Given the description of an element on the screen output the (x, y) to click on. 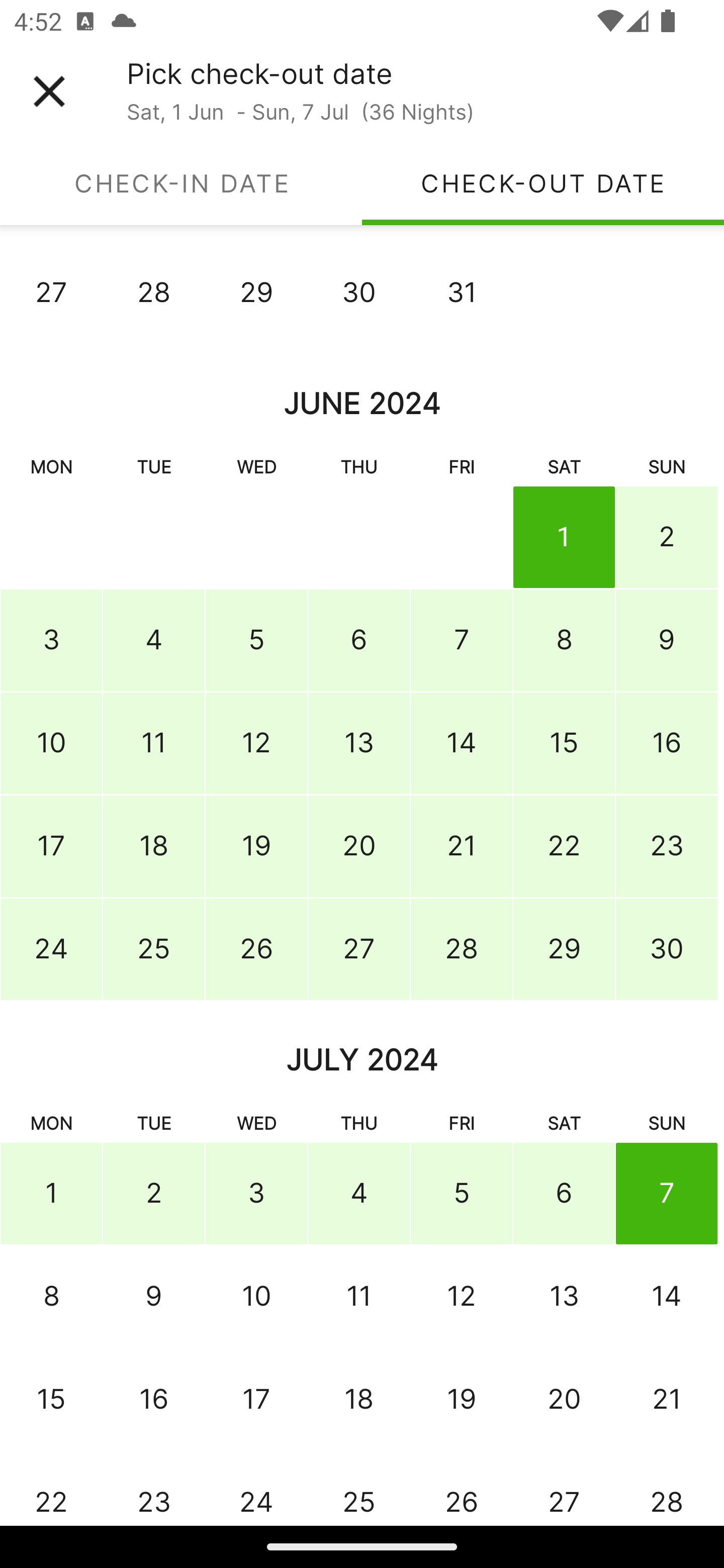
Check-in Date CHECK-IN DATE (181, 183)
